Given the description of an element on the screen output the (x, y) to click on. 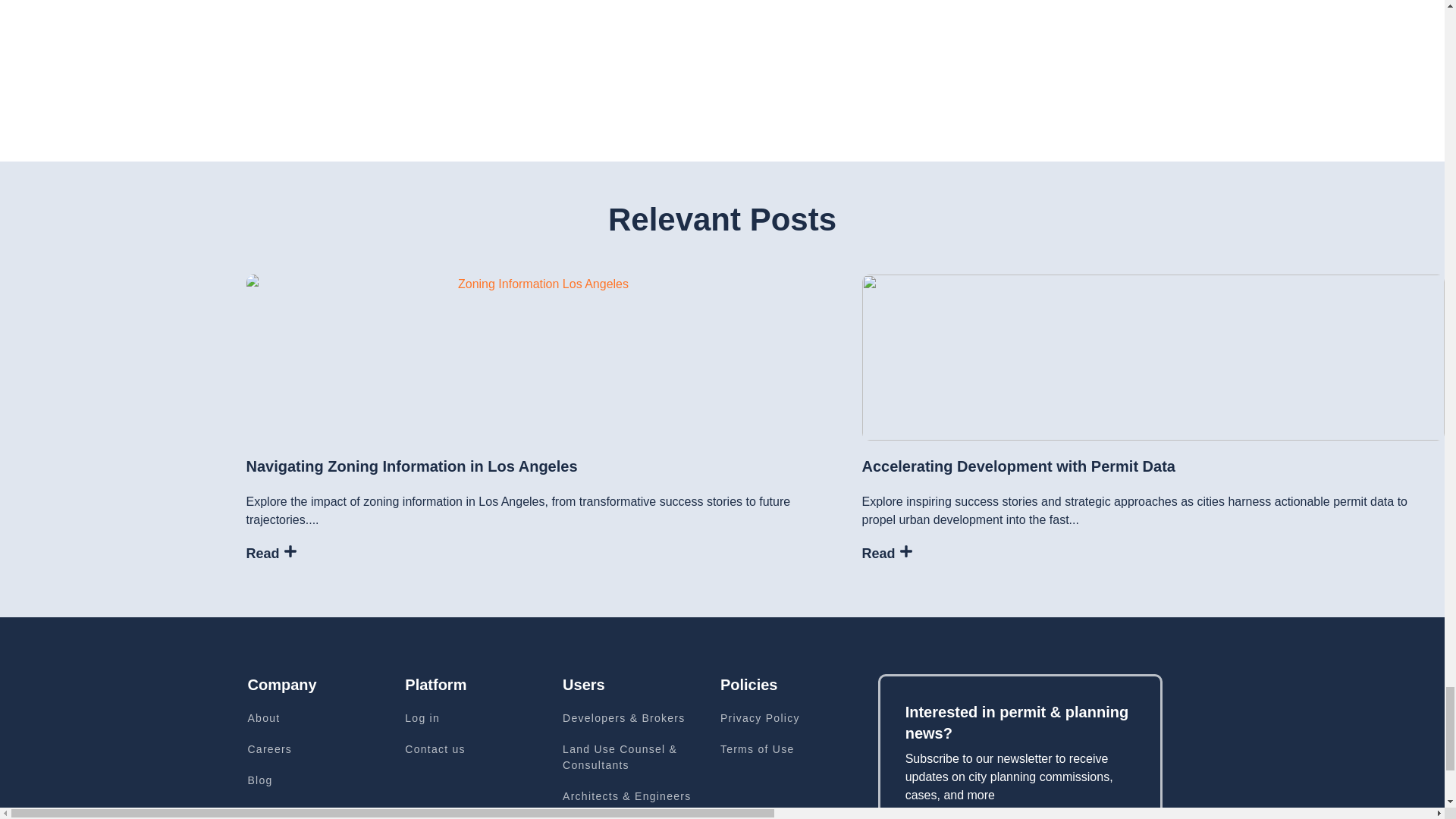
Navigating Zoning Information in Los Angeles (411, 465)
Read (271, 553)
